Given the description of an element on the screen output the (x, y) to click on. 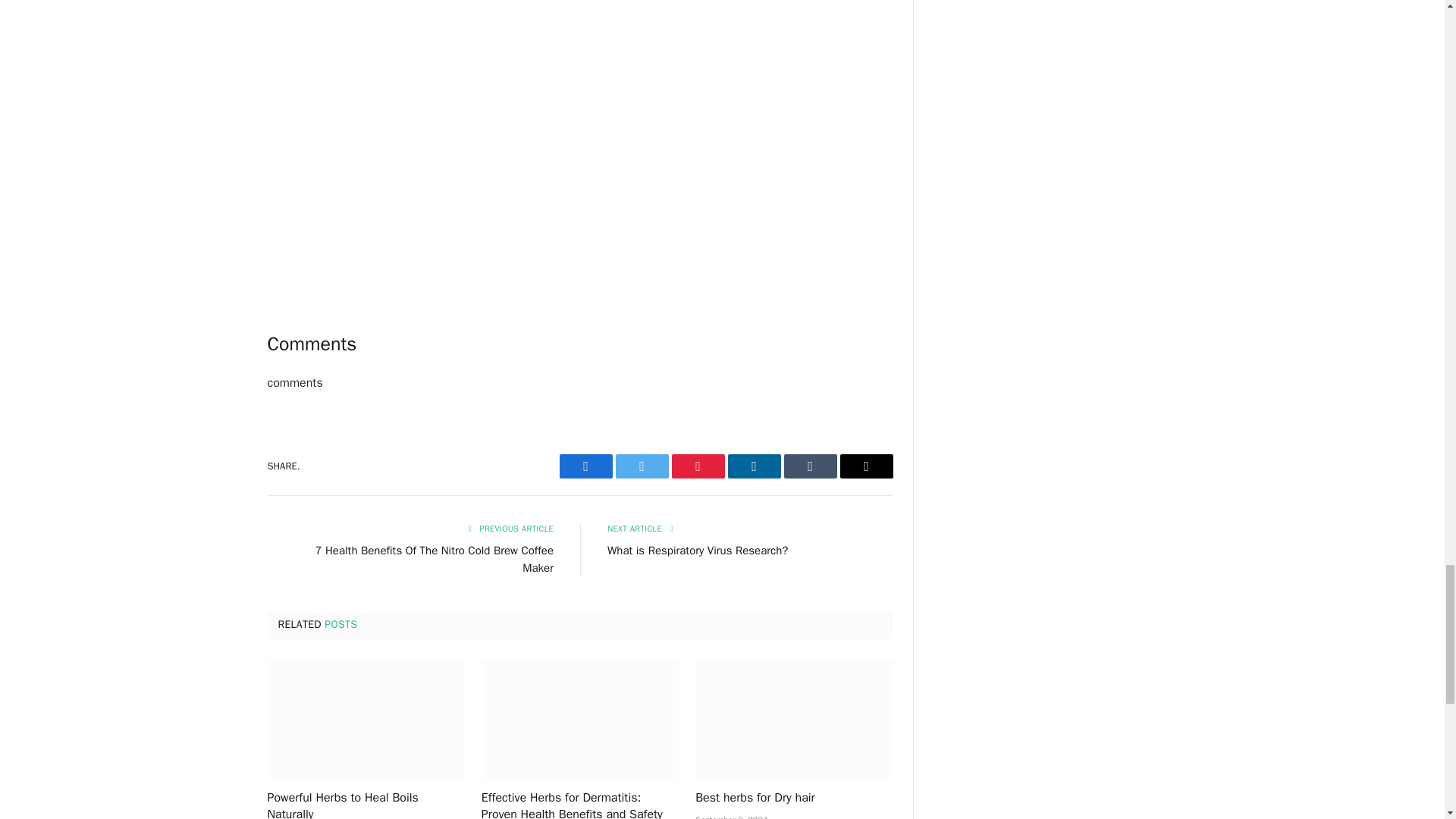
Share on LinkedIn (754, 466)
Facebook (585, 466)
Share on Facebook (585, 466)
Share on Twitter (641, 466)
Pinterest (698, 466)
Share on Pinterest (698, 466)
Twitter (641, 466)
Share on Tumblr (810, 466)
